Given the description of an element on the screen output the (x, y) to click on. 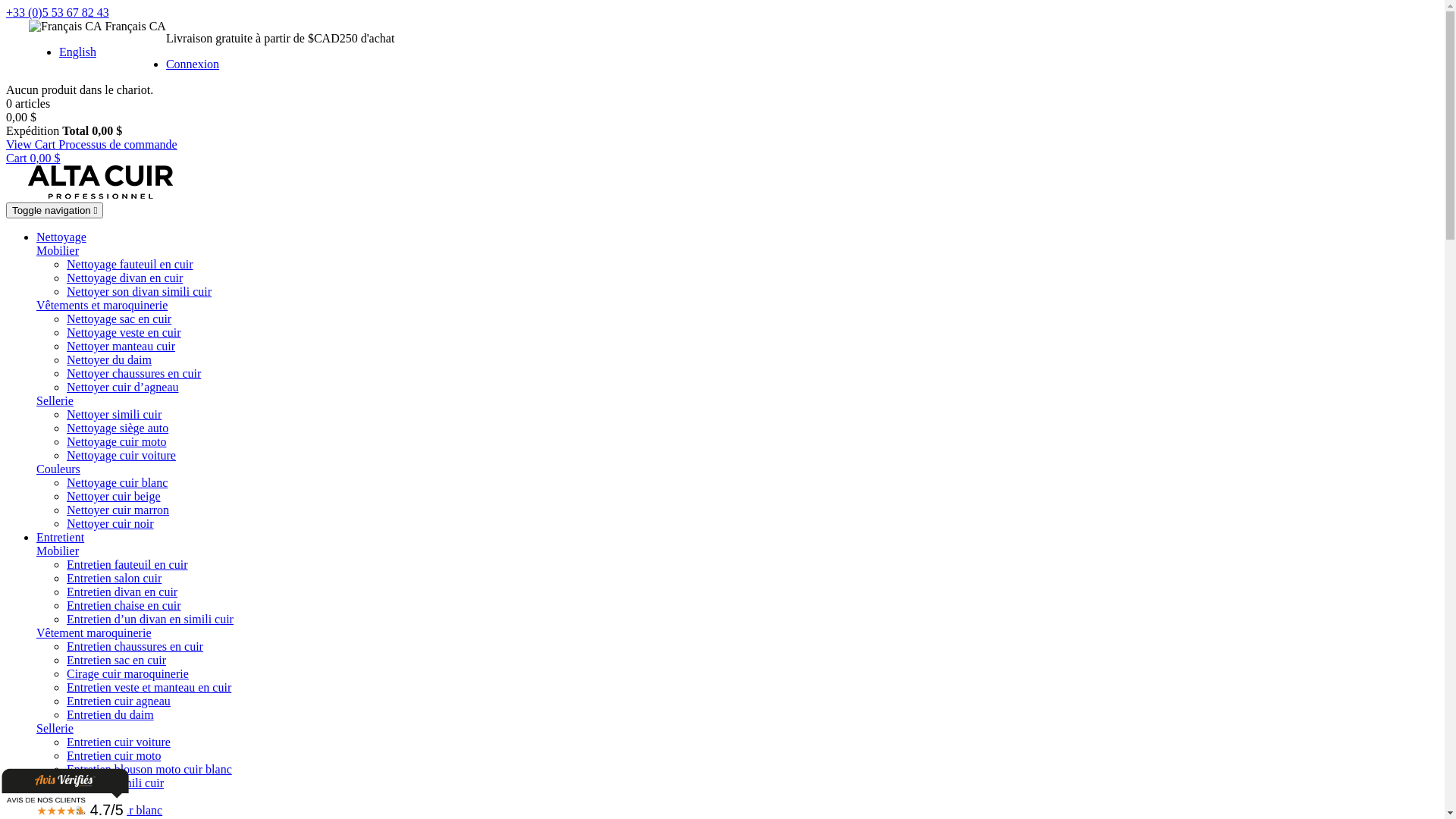
Nettoyer cuir beige Element type: text (113, 495)
Mobilier Element type: text (57, 250)
Cart 0,00 $ Element type: text (33, 157)
Mobilier Element type: text (57, 550)
Nettoyage divan en cuir Element type: text (124, 277)
Entretien cuir blanc Element type: text (114, 809)
Entretien fauteuil en cuir Element type: text (126, 564)
Nettoyage cuir moto Element type: text (116, 441)
Sellerie Element type: text (54, 400)
Sellerie Element type: text (54, 727)
Entretien chaise en cuir Element type: text (123, 605)
Nettoyer chaussures en cuir Element type: text (133, 373)
Nettoyage cuir voiture Element type: text (120, 454)
Entretien cuir voiture Element type: text (118, 741)
Connexion Element type: text (192, 63)
Entretien divan en cuir Element type: text (121, 591)
Entretien veste et manteau en cuir Element type: text (148, 686)
Nettoyer du daim Element type: text (108, 359)
Couleur Element type: text (55, 796)
Nettoyer son divan simili cuir Element type: text (138, 291)
Nettoyer simili cuir Element type: text (113, 413)
Entretien chaussures en cuir Element type: text (134, 646)
Couleurs Element type: text (58, 468)
Entretien cuir moto Element type: text (113, 755)
Nettoyage veste en cuir Element type: text (123, 332)
View Cart Element type: text (32, 144)
Entretient Element type: text (60, 536)
+33 (0)5 53 67 82 43 Element type: text (57, 12)
Entretien du daim Element type: text (109, 714)
Entretien simili cuir Element type: text (114, 782)
Entretien salon cuir Element type: text (113, 577)
Nettoyage fauteuil en cuir Element type: text (129, 263)
English Element type: text (77, 51)
Nettoyage sac en cuir Element type: text (118, 318)
Nettoyage cuir blanc Element type: text (116, 482)
Nettoyage Element type: text (61, 236)
Nettoyer cuir noir Element type: text (109, 523)
Entretien sac en cuir Element type: text (116, 659)
Entretien cuir agneau Element type: text (118, 700)
Nettoyer manteau cuir Element type: text (120, 345)
Entretien blouson moto cuir blanc Element type: text (149, 768)
Nettoyer cuir marron Element type: text (117, 509)
Processus de commande Element type: text (117, 144)
Cirage cuir maroquinerie Element type: text (127, 673)
